Given the description of an element on the screen output the (x, y) to click on. 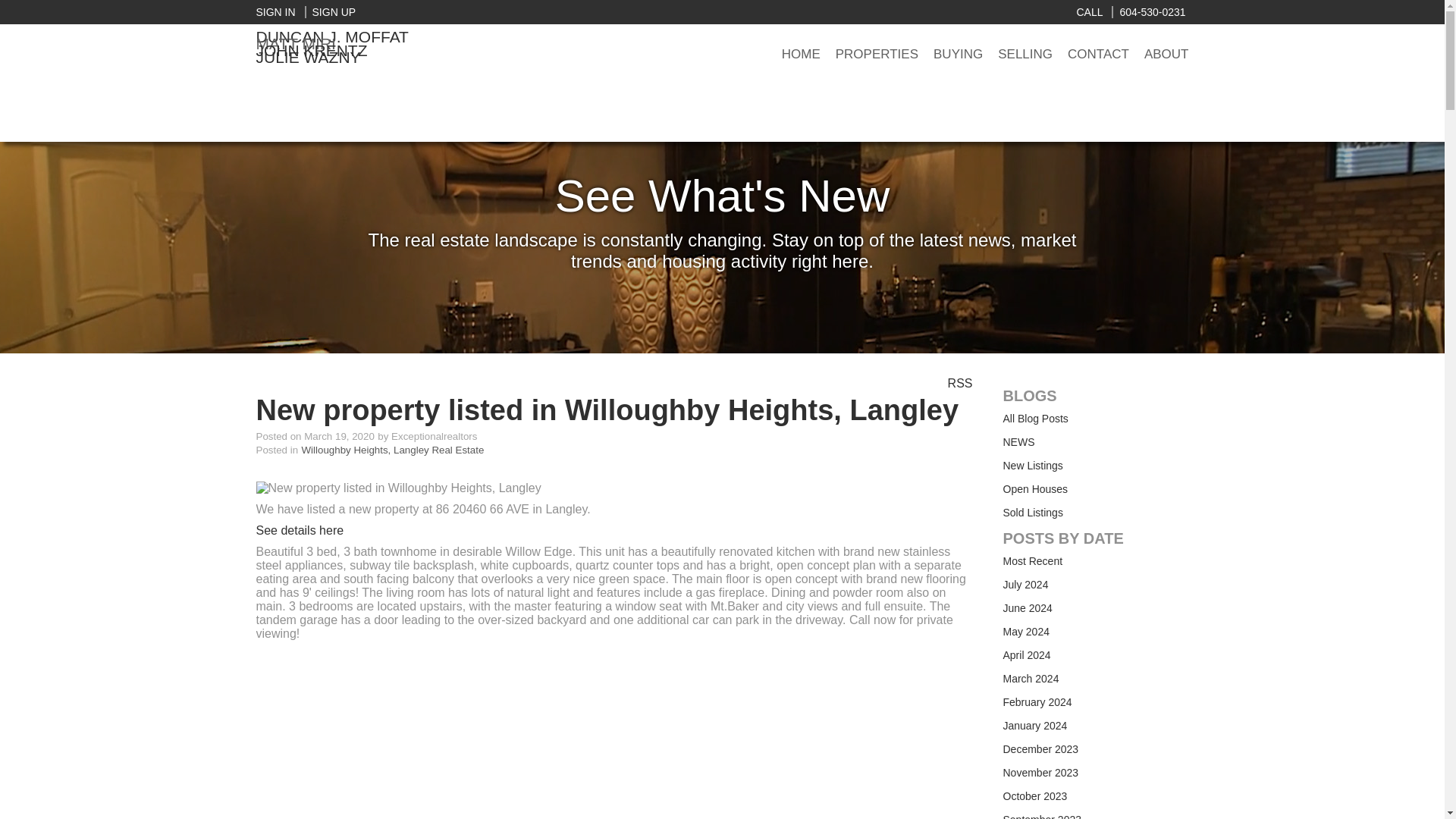
All Blog Posts (1035, 418)
JULIE WAZNY (308, 57)
DUNCAN J. MOFFAT (332, 36)
CONTACT (1098, 54)
604-530-0231 (1148, 11)
MATT MIRI (375, 44)
Willoughby Heights, Langley Real Estate (392, 449)
BUYING (958, 54)
SELLING (1024, 54)
RSS (959, 382)
See details here (299, 530)
SIGN UP (330, 11)
NEWS (1018, 441)
ABOUT (1166, 54)
JOHN KRENTZ (312, 49)
